Given the description of an element on the screen output the (x, y) to click on. 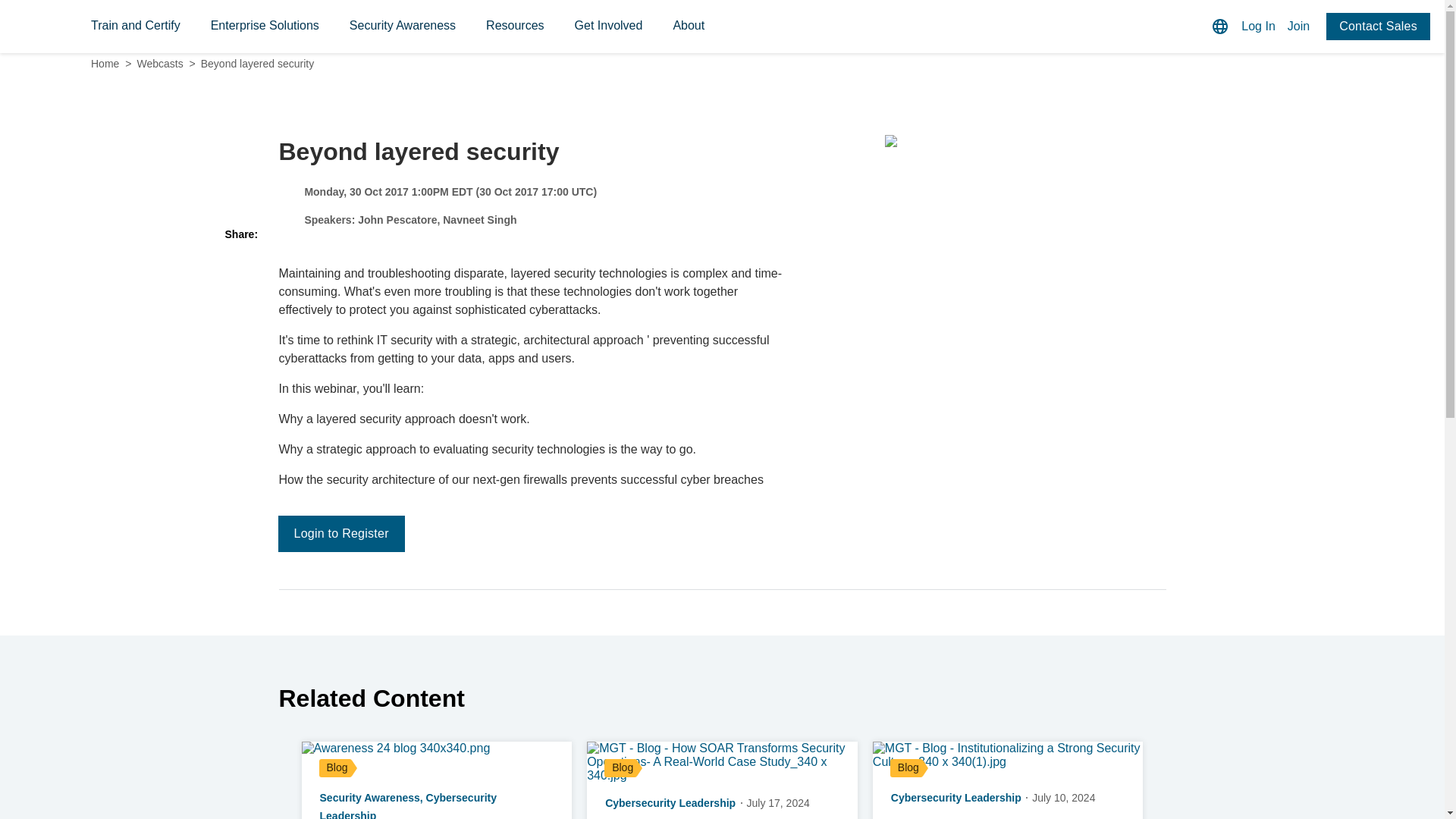
homepage (60, 26)
LinkedIn (239, 291)
Awareness 24 blog 340x340.png (436, 748)
Facebook (239, 320)
homepage (60, 26)
Copy to clipboard (239, 349)
Twitter (239, 262)
Train and Certify (135, 25)
